Given the description of an element on the screen output the (x, y) to click on. 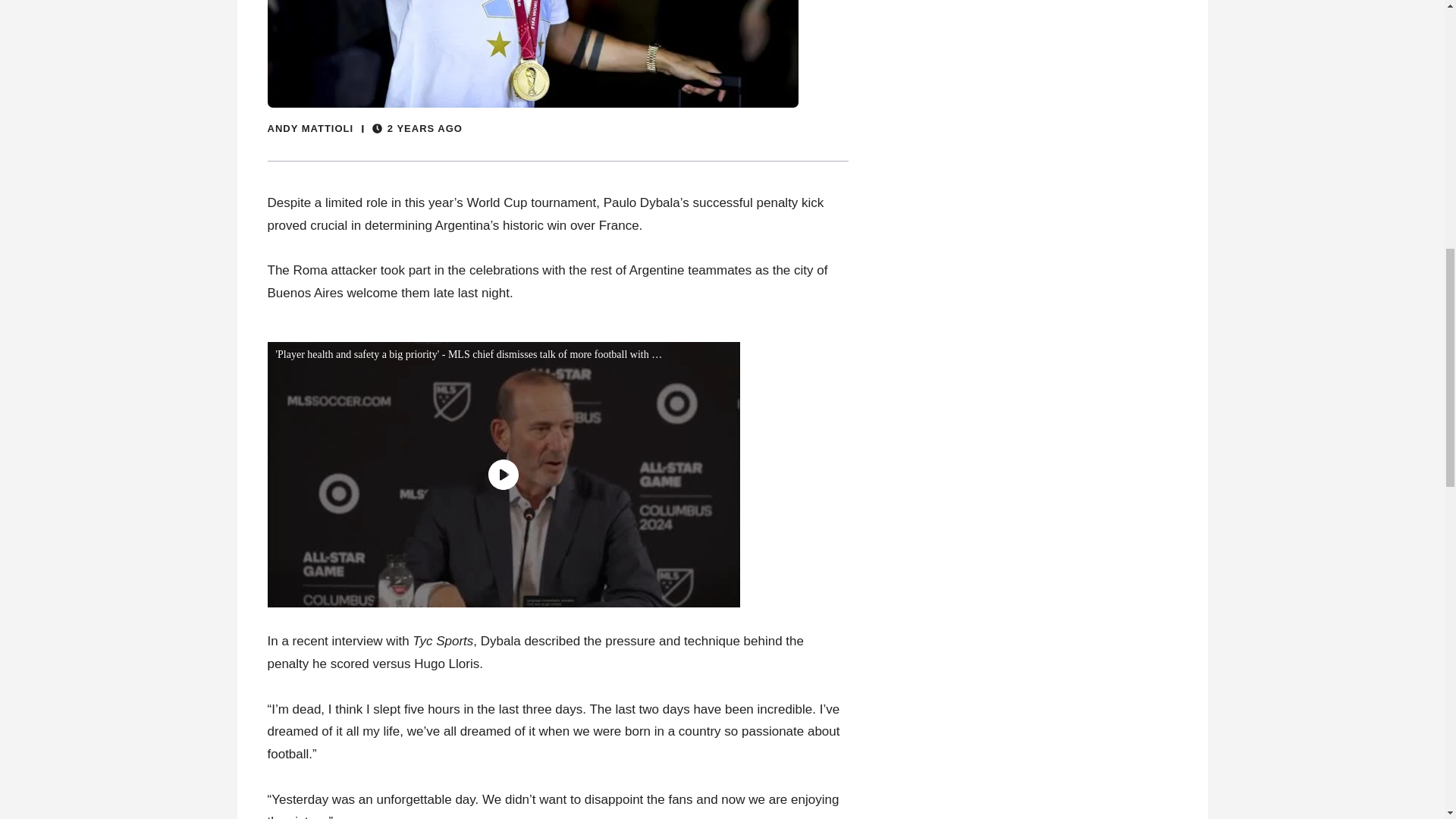
X (1434, 760)
